Given the description of an element on the screen output the (x, y) to click on. 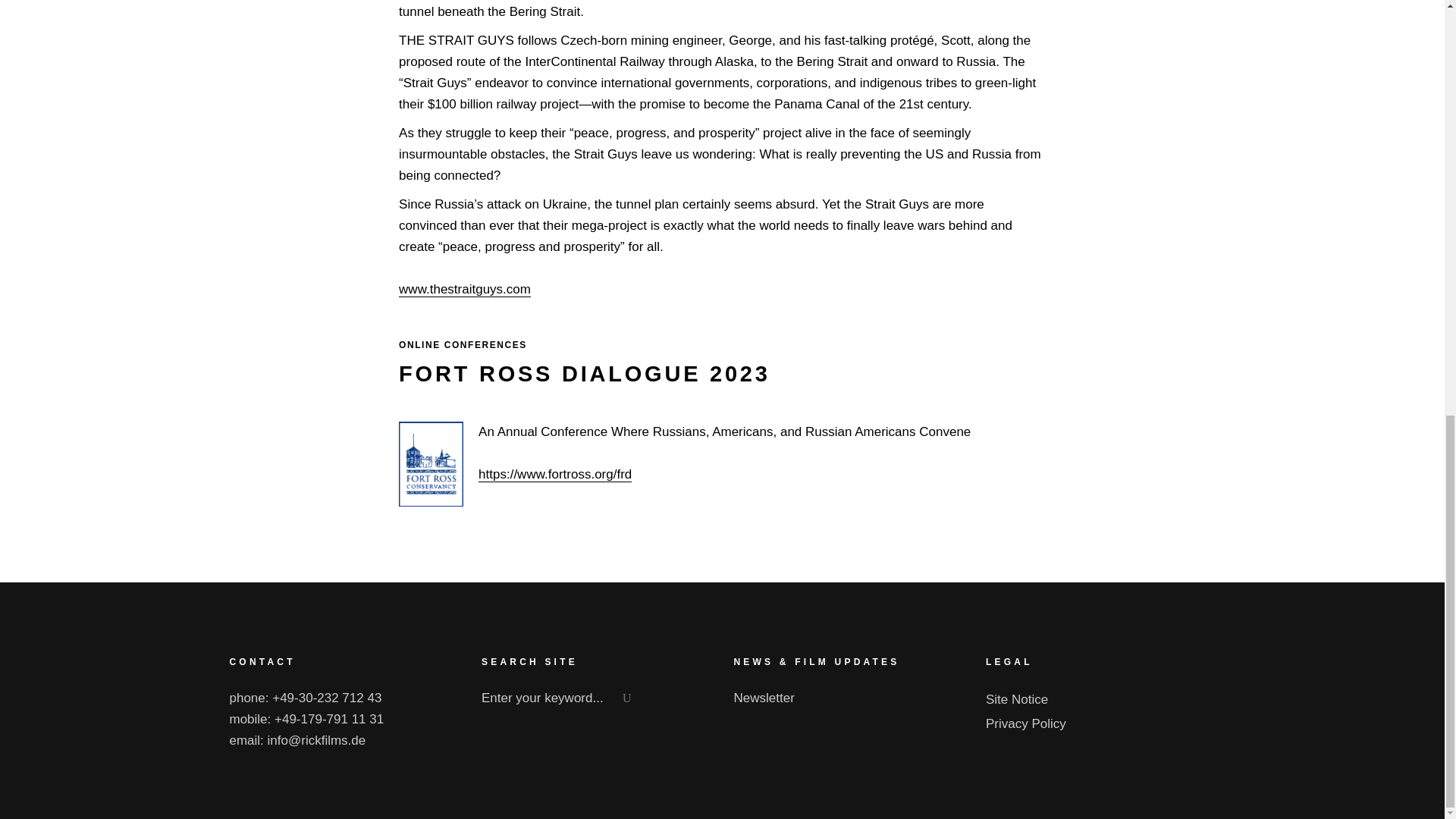
Privacy Policy (1025, 723)
Site Notice (1016, 699)
www.thestraitguys.com (464, 289)
Search for: (561, 698)
Newsletter (763, 698)
